Given the description of an element on the screen output the (x, y) to click on. 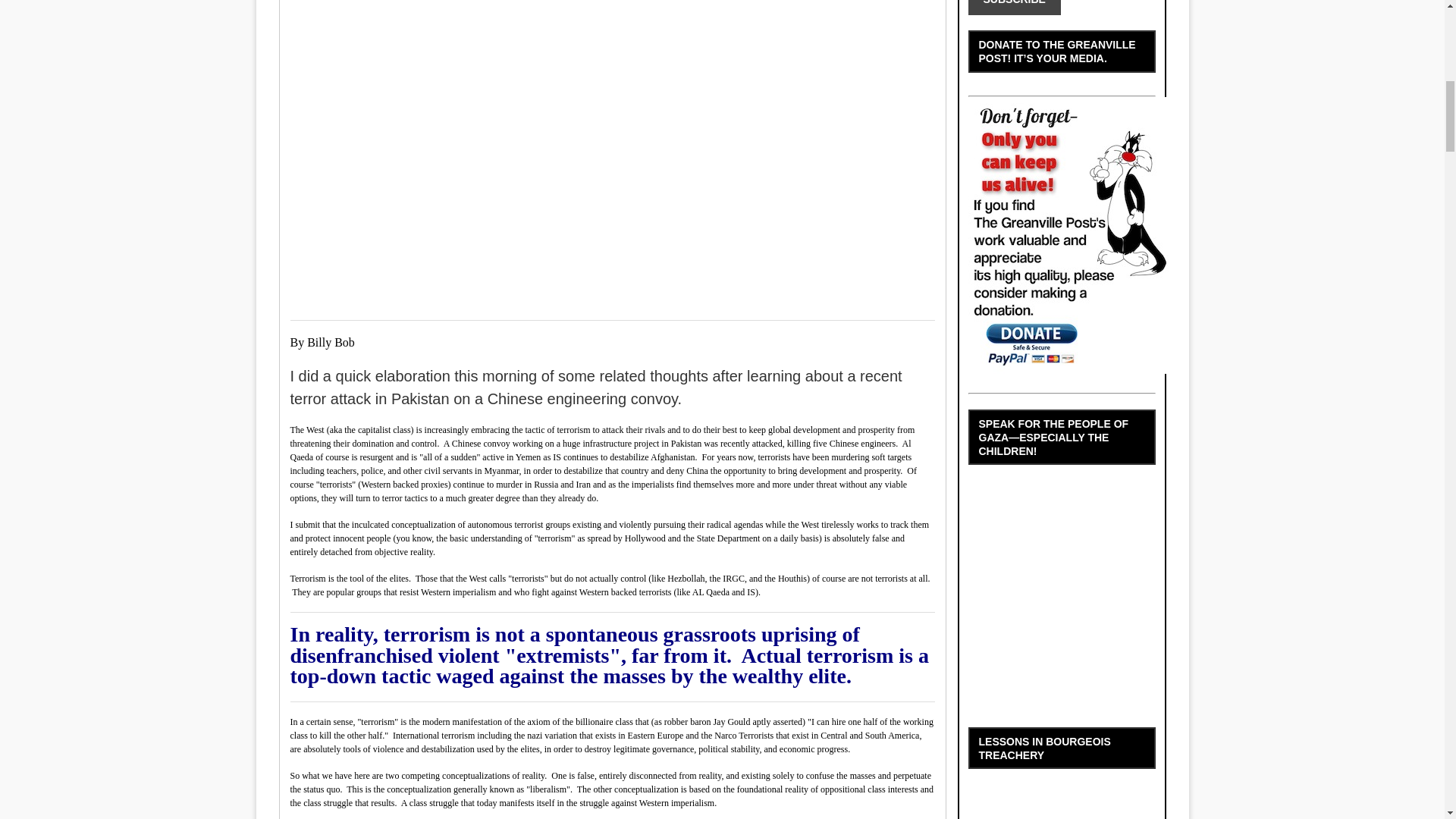
Subscribe (1013, 7)
